Given the description of an element on the screen output the (x, y) to click on. 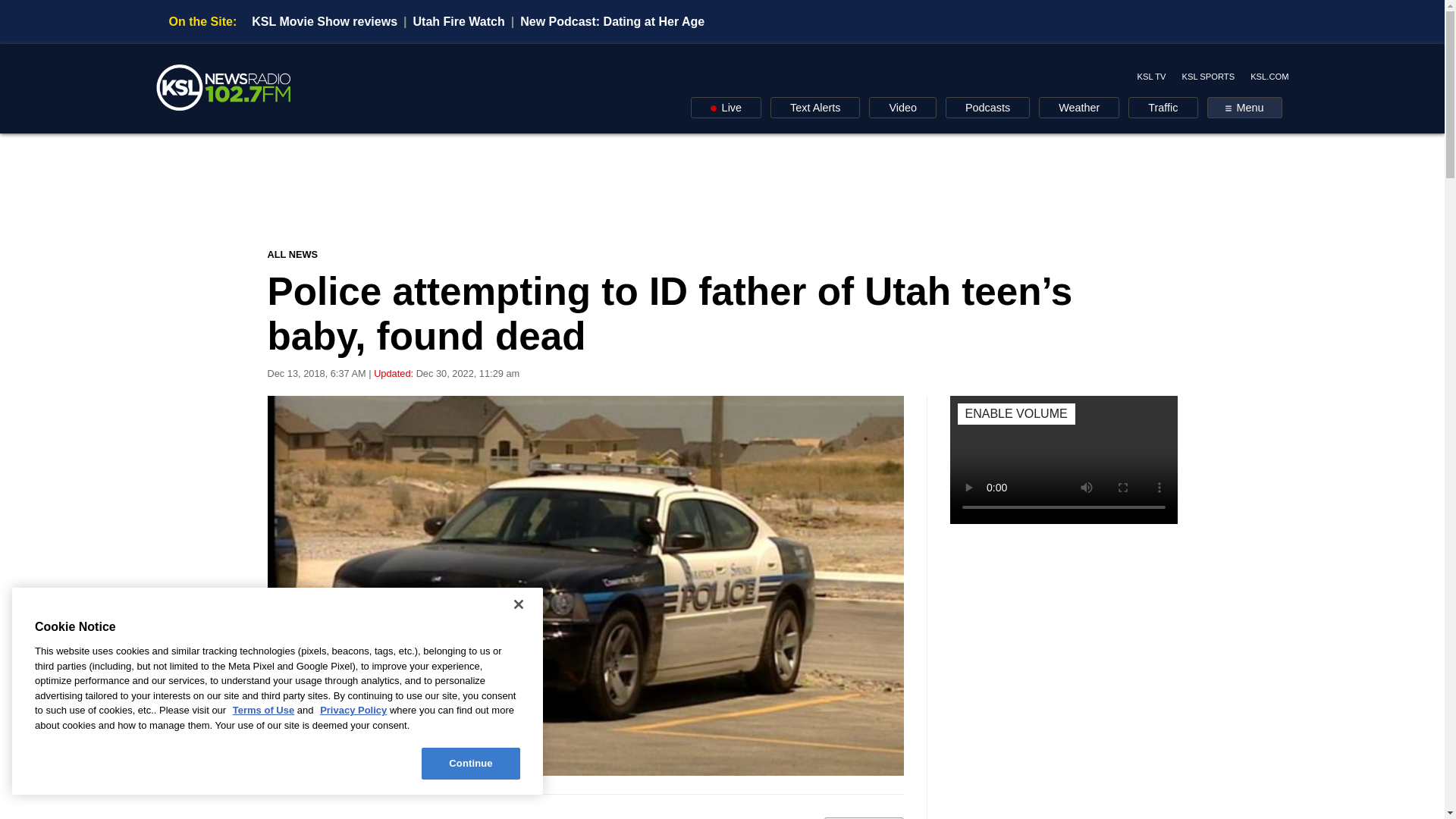
Utah Fire Watch (459, 21)
New Podcast: Dating at Her Age (611, 21)
3rd party ad content (722, 190)
KSL Movie Show reviews (324, 21)
